Given the description of an element on the screen output the (x, y) to click on. 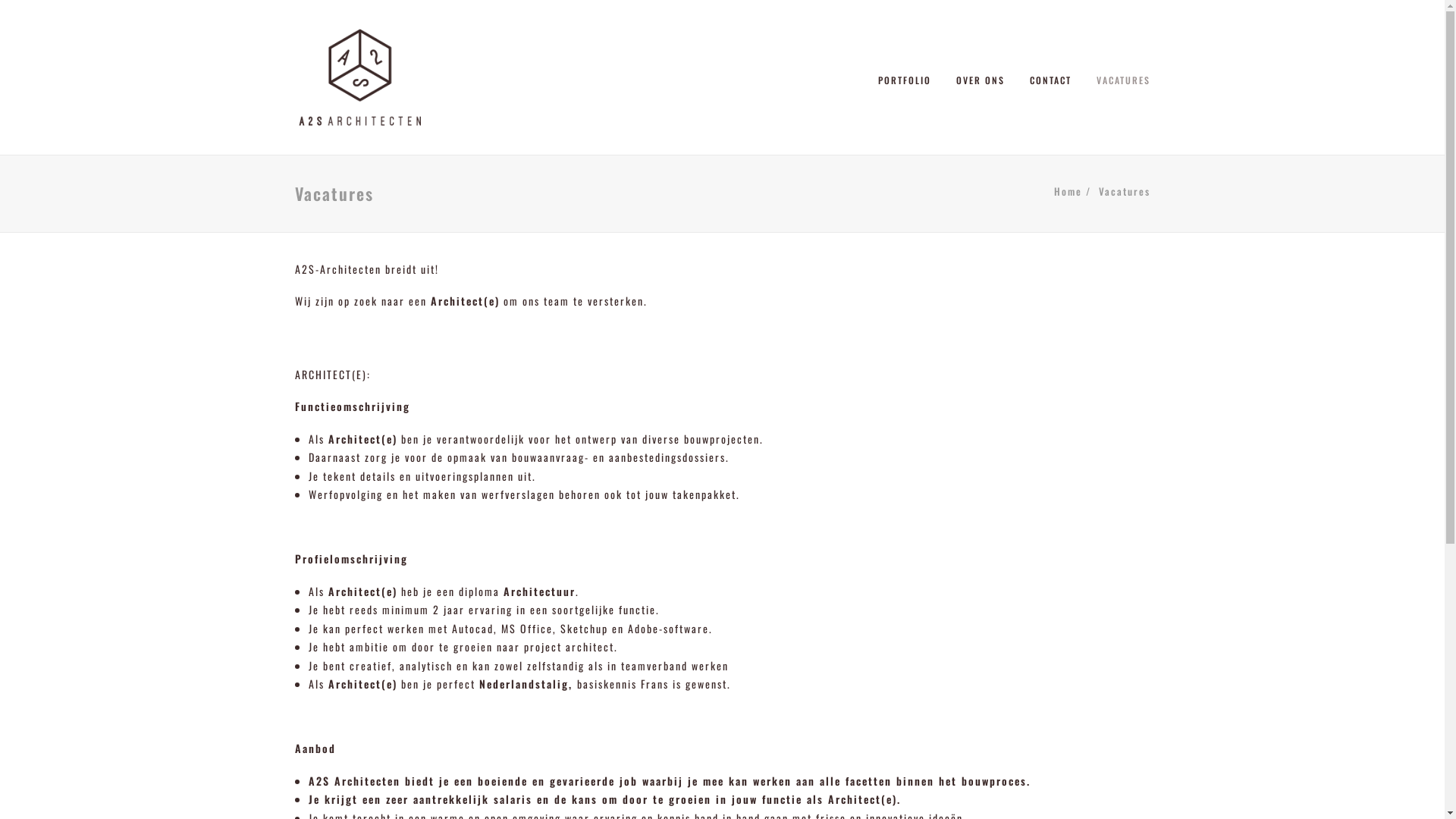
OVER ONS Element type: text (979, 77)
VACATURES Element type: text (1117, 77)
Home Element type: text (1068, 190)
PORTFOLIO Element type: text (909, 77)
CONTACT Element type: text (1050, 77)
